Given the description of an element on the screen output the (x, y) to click on. 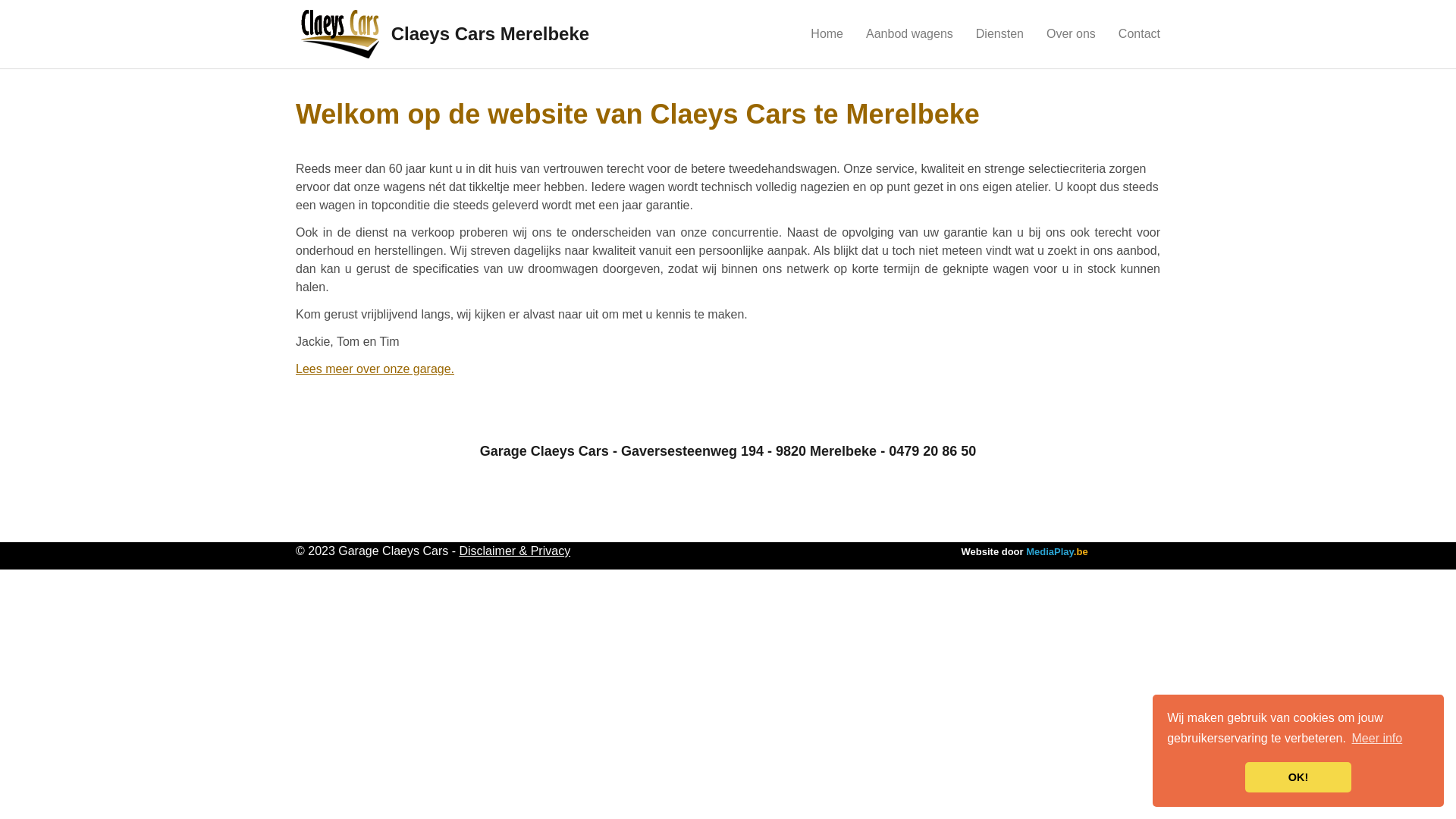
Claeys Cars Merelbeke Element type: text (442, 34)
MediaPlay.be Element type: text (1056, 551)
Disclaimer & Privacy Element type: text (514, 550)
Meer info Element type: text (1376, 738)
Lees meer over onze garage. Element type: text (374, 368)
Garage Claeys Cars Merebleke Element type: hover (338, 33)
Over ons Element type: text (1071, 34)
Aanbod wagens Element type: text (909, 34)
OK! Element type: text (1298, 777)
Contact Element type: text (1139, 34)
Home Element type: text (826, 34)
Diensten Element type: text (999, 34)
